Given the description of an element on the screen output the (x, y) to click on. 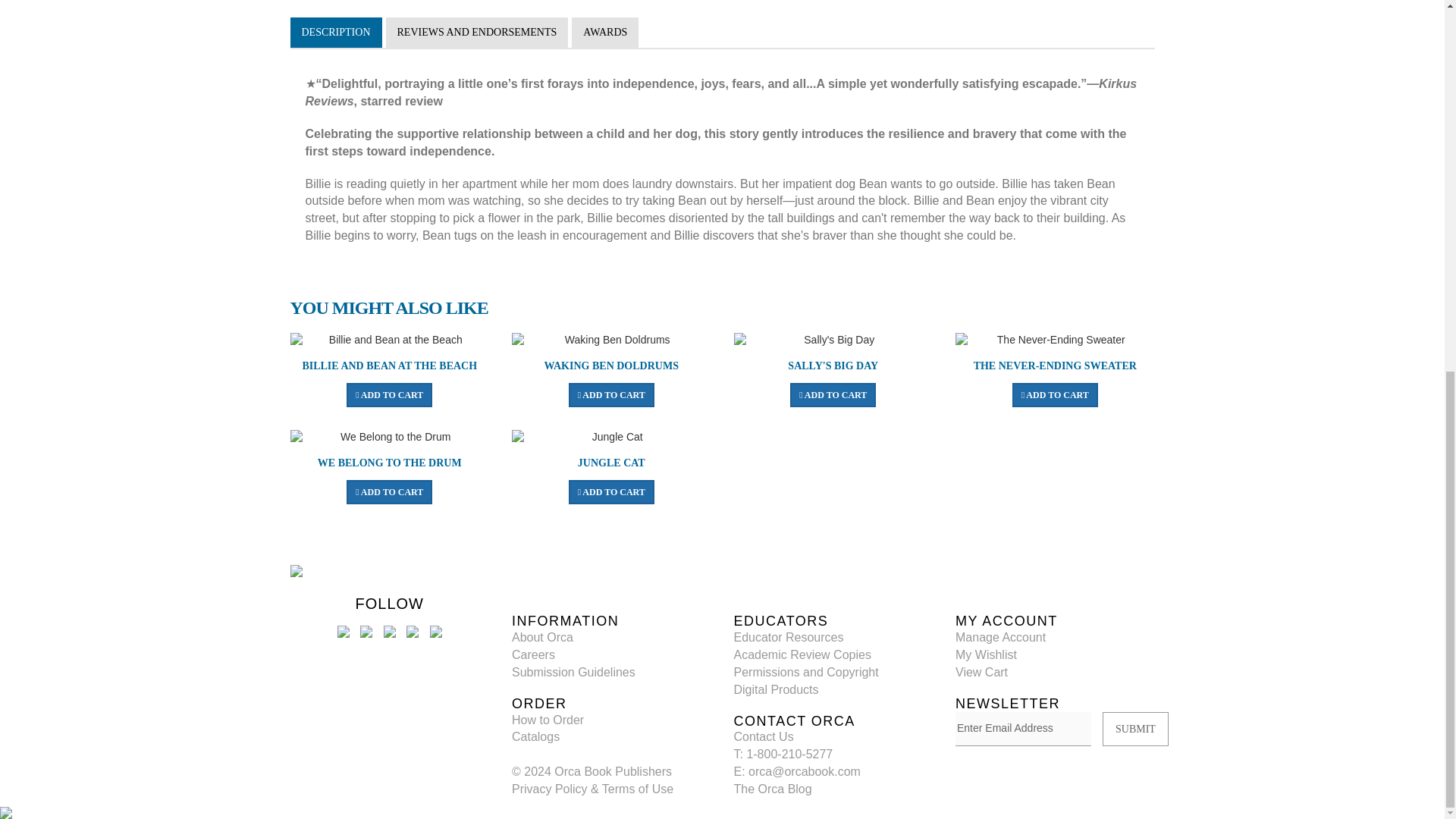
Enter Email Address (1022, 728)
Enter Email Address (1022, 728)
